Given the description of an element on the screen output the (x, y) to click on. 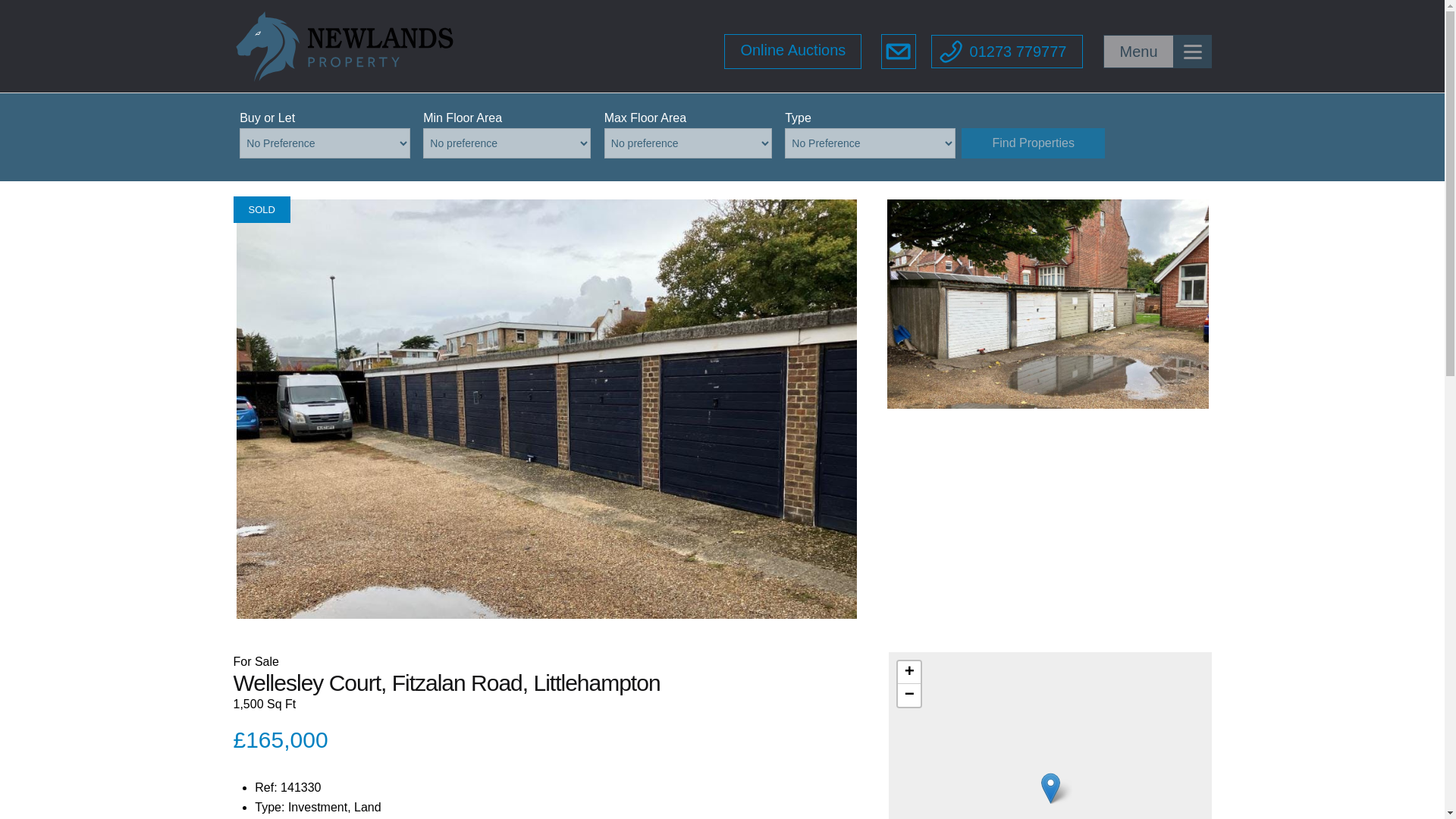
Zoom out (909, 694)
01273 779777 (1007, 51)
Zoom in (909, 671)
Find Properties (1032, 142)
Menu (1157, 51)
Find Properties (1032, 142)
Online Auctions (792, 51)
